Given the description of an element on the screen output the (x, y) to click on. 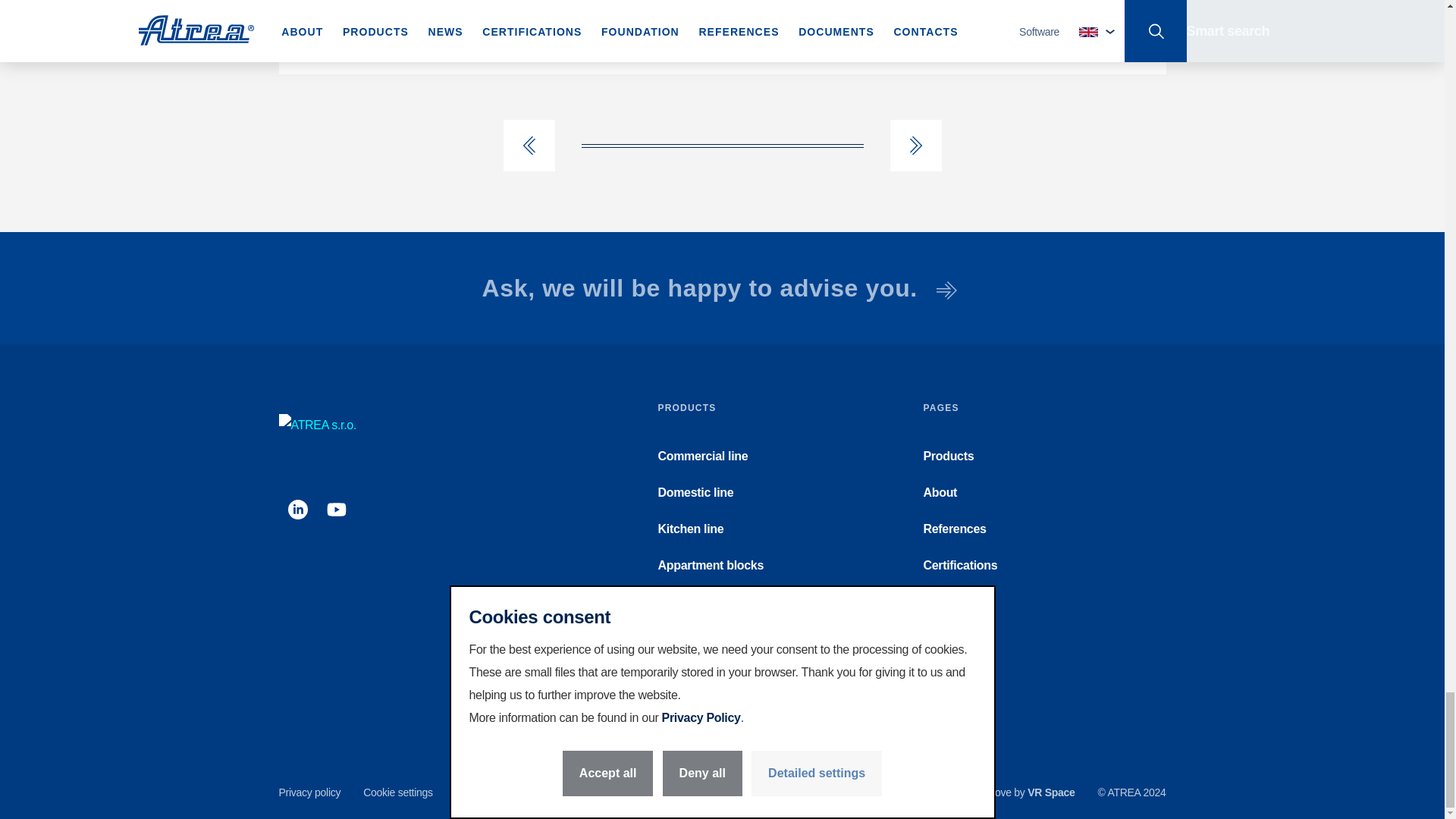
LinkedIn (297, 509)
Homepage (317, 418)
YouTube (336, 509)
